Given the description of an element on the screen output the (x, y) to click on. 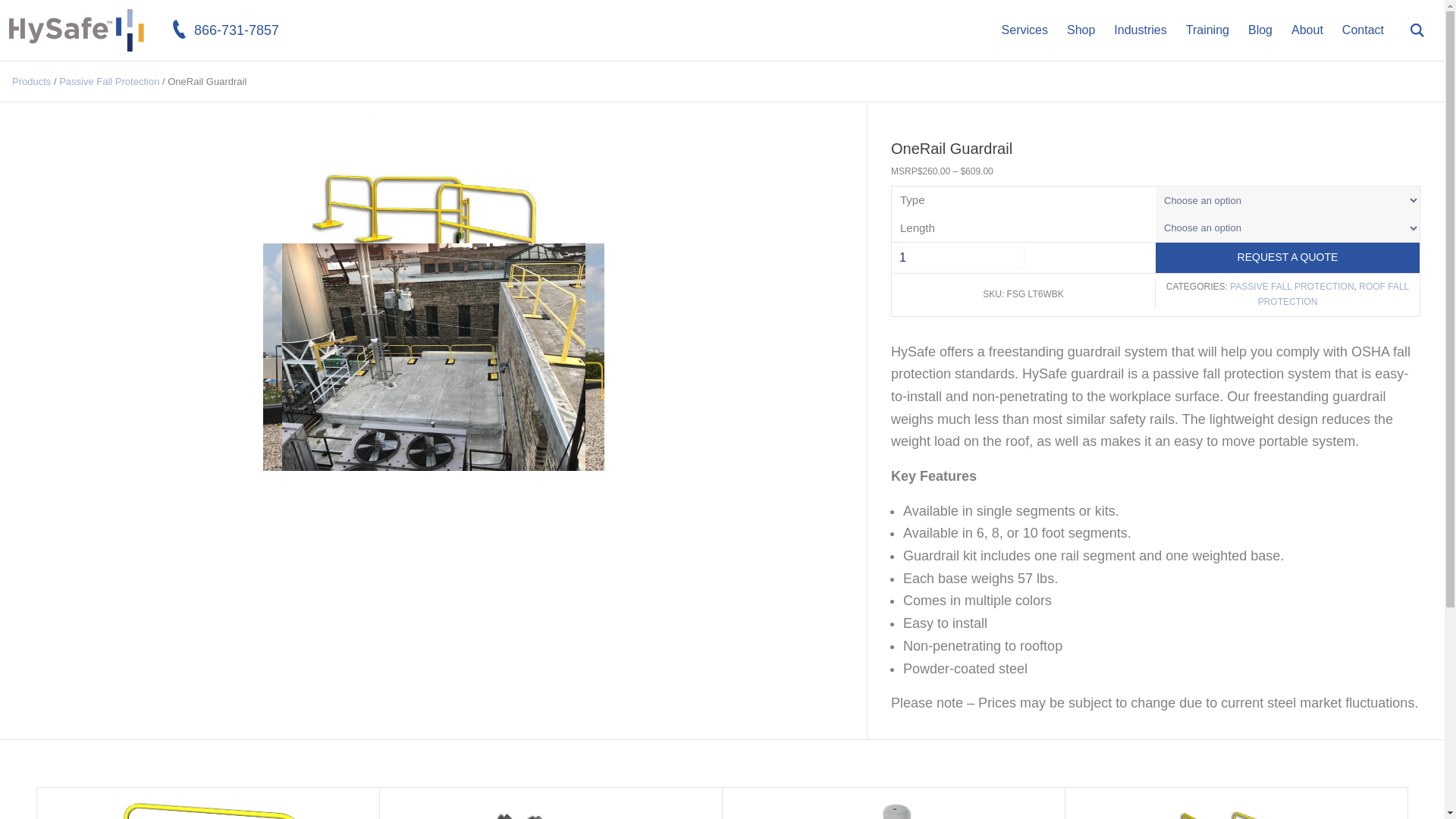
HySafe (76, 55)
Contact (1363, 30)
Products (30, 81)
1 (959, 257)
Goose Island Guardrail (433, 356)
Passive Fall Protection (108, 81)
ROOF FALL PROTECTION (1333, 294)
866-731-7857 (225, 30)
HySafe Guardrail (433, 356)
REQUEST A QUOTE (1287, 257)
Services (1024, 30)
PASSIVE FALL PROTECTION (1292, 286)
Industries (1139, 30)
Training (1206, 30)
